Given the description of an element on the screen output the (x, y) to click on. 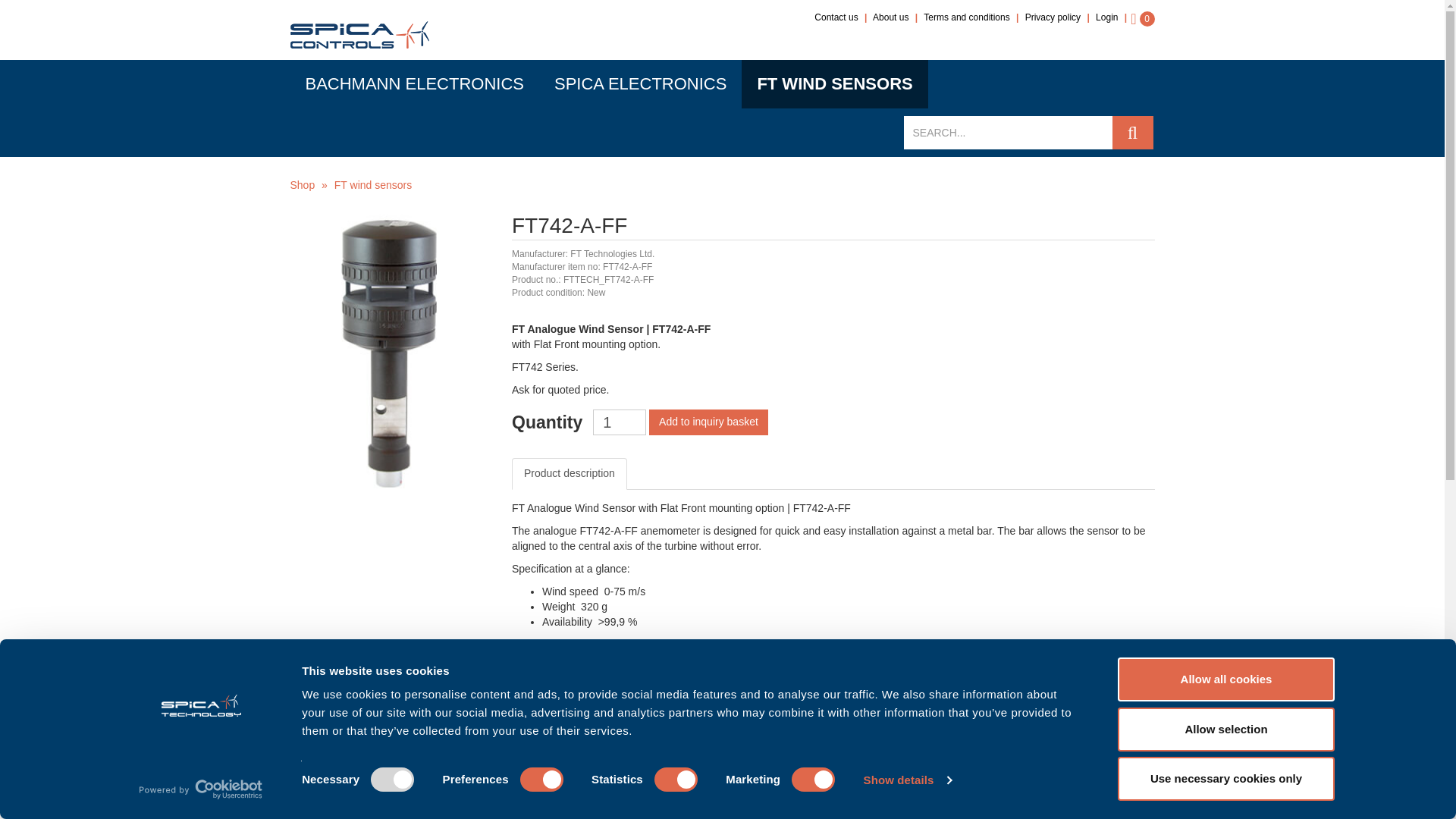
Allow selection (1226, 728)
Allow all cookies (1226, 679)
Show details (907, 780)
1 (619, 421)
Use necessary cookies only (1226, 778)
